Given the description of an element on the screen output the (x, y) to click on. 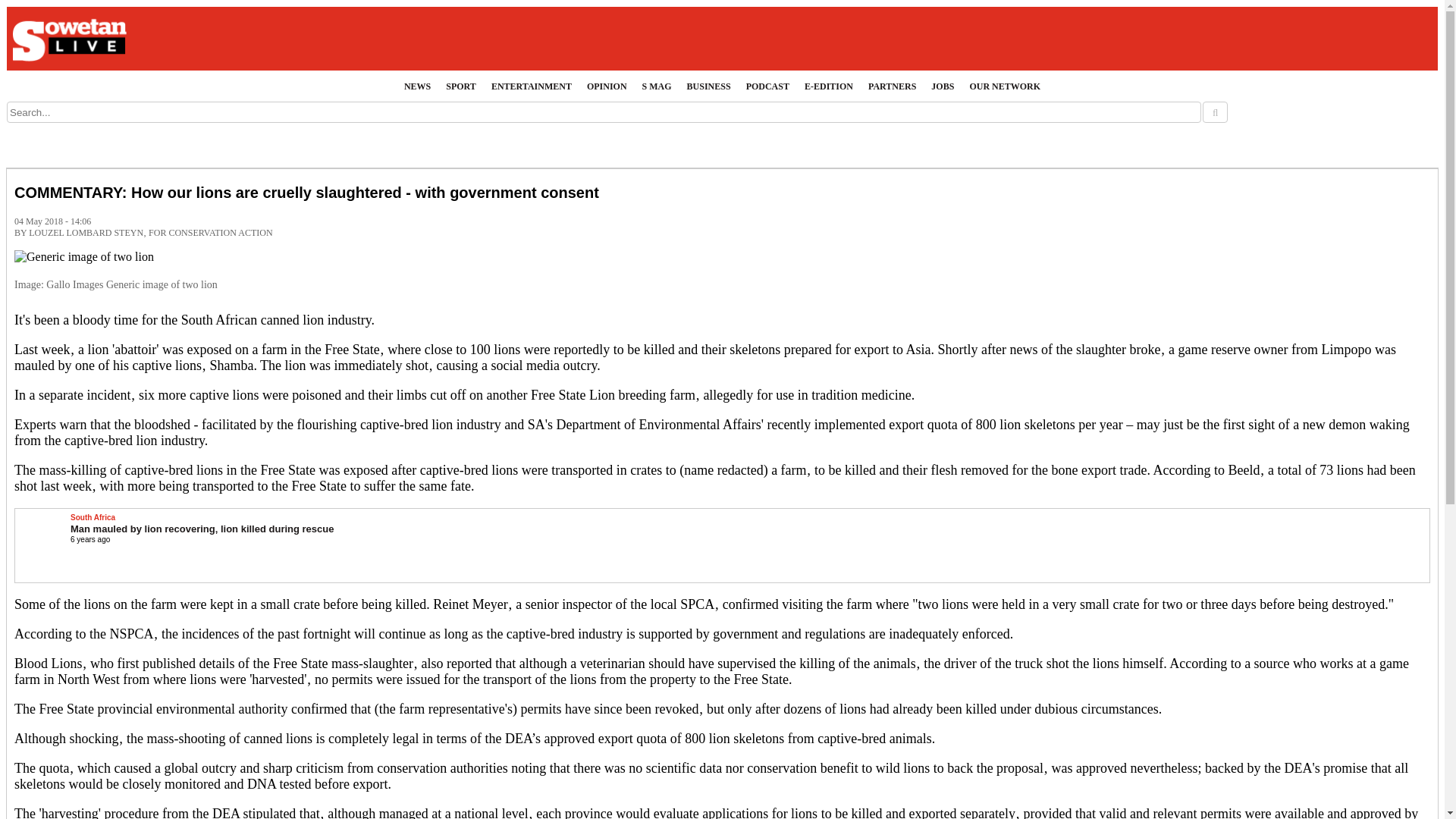
BUSINESS (708, 86)
JOBS (941, 86)
S MAG (657, 86)
PARTNERS (891, 86)
SPORT (460, 86)
ENTERTAINMENT (531, 86)
OPINION (606, 86)
PODCAST (766, 86)
OUR NETWORK (1004, 86)
E-EDITION (828, 86)
